Given the description of an element on the screen output the (x, y) to click on. 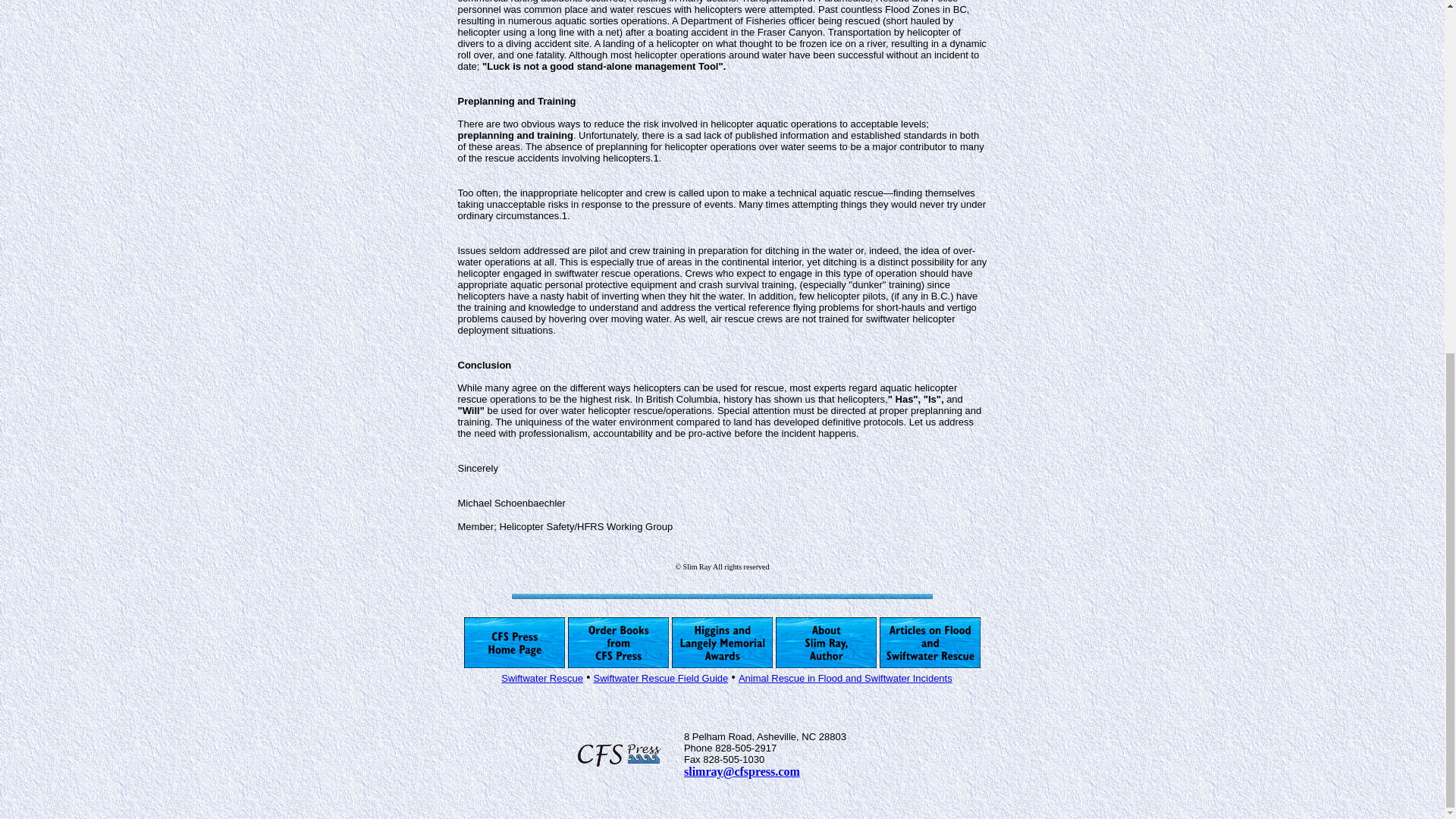
Swiftwater Rescue Field Guide (661, 676)
Swiftwater Rescue (541, 676)
Animal Rescue in Flood and Swiftwater Incidents (845, 676)
